Given the description of an element on the screen output the (x, y) to click on. 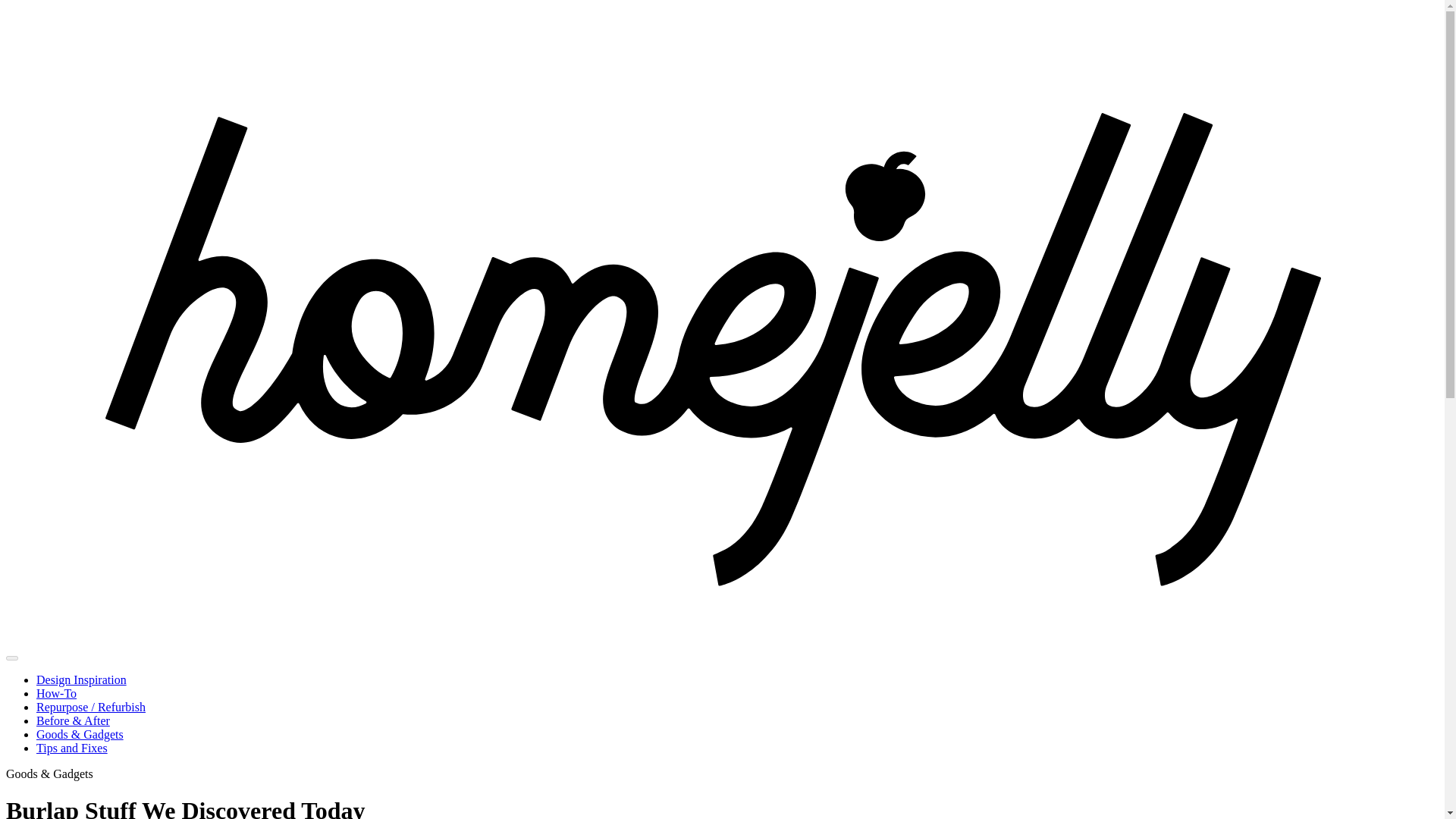
Design Inspiration (81, 679)
Tips and Fixes (71, 748)
How-To (56, 693)
How-To (56, 693)
Design Inspiration (81, 679)
Tips and Fixes (71, 748)
